Given the description of an element on the screen output the (x, y) to click on. 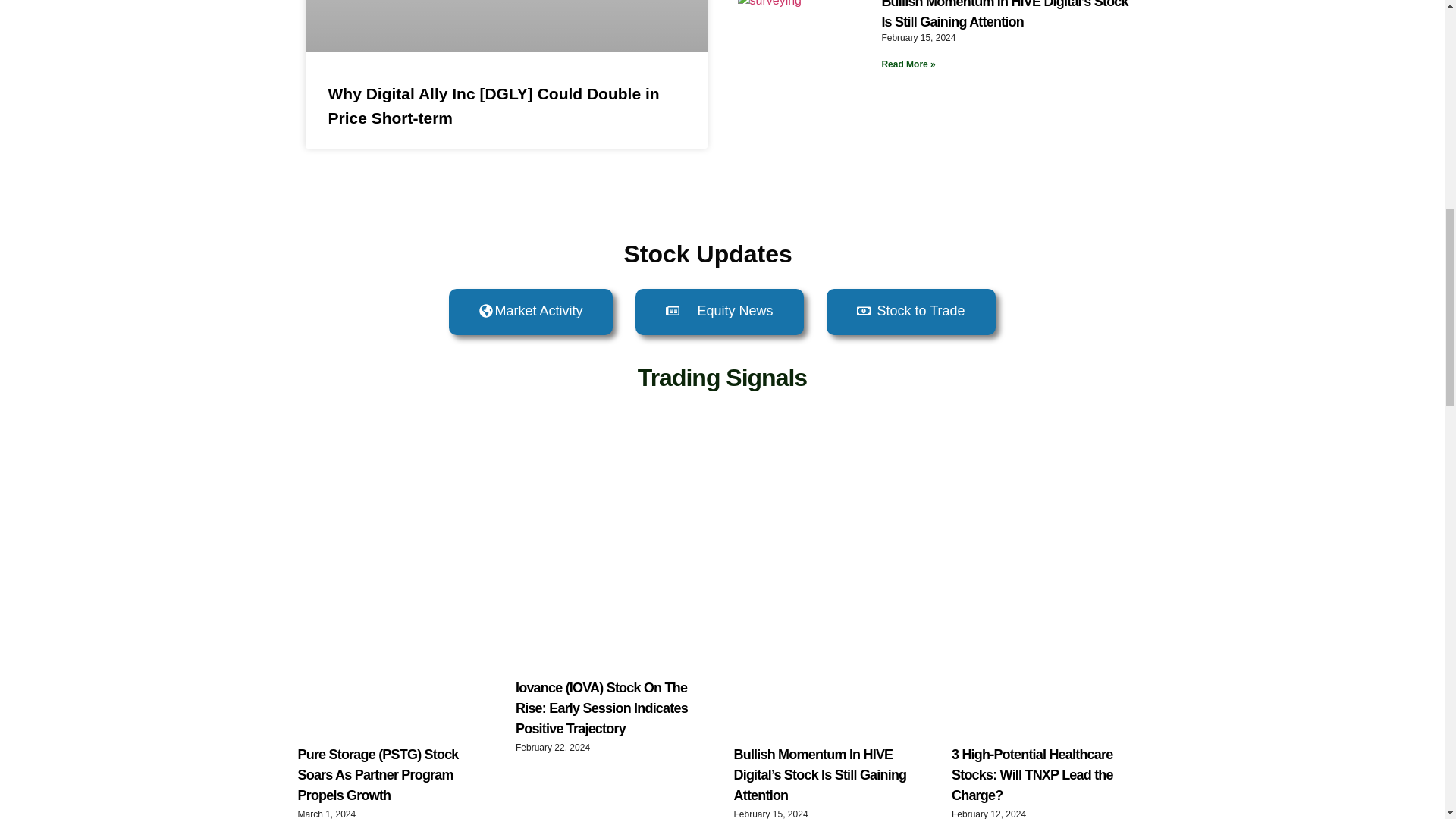
Market Activity (530, 311)
Trading Signals (721, 377)
Equity News (718, 311)
Stock to Trade (911, 311)
